Given the description of an element on the screen output the (x, y) to click on. 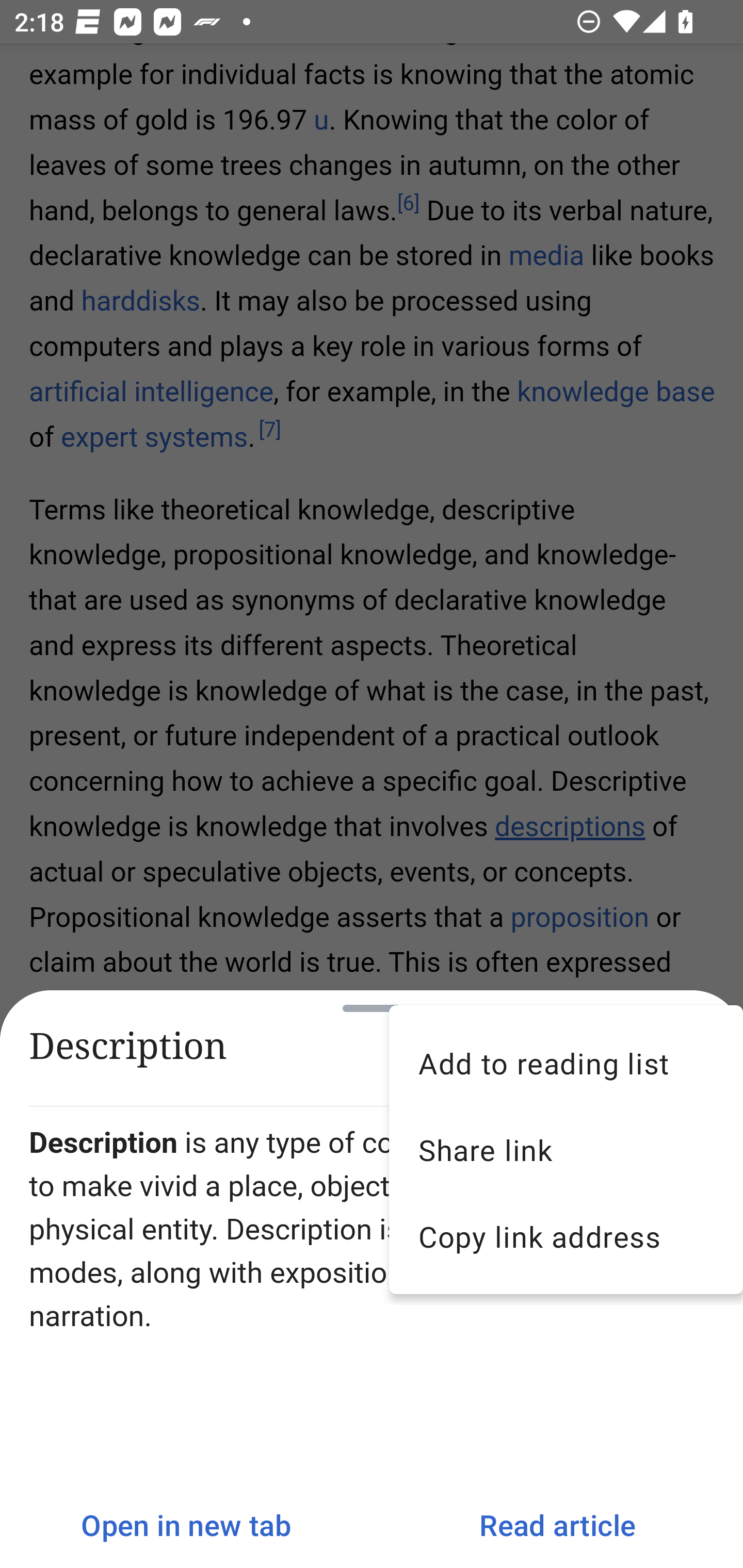
Add to reading list (566, 1063)
Share link (566, 1150)
Copy link address (566, 1236)
